Given the description of an element on the screen output the (x, y) to click on. 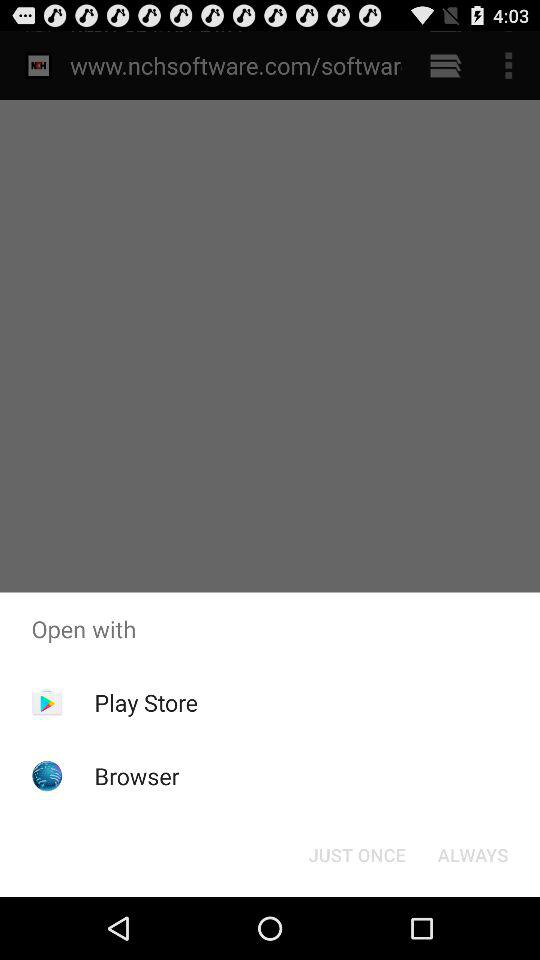
jump to play store (146, 702)
